Given the description of an element on the screen output the (x, y) to click on. 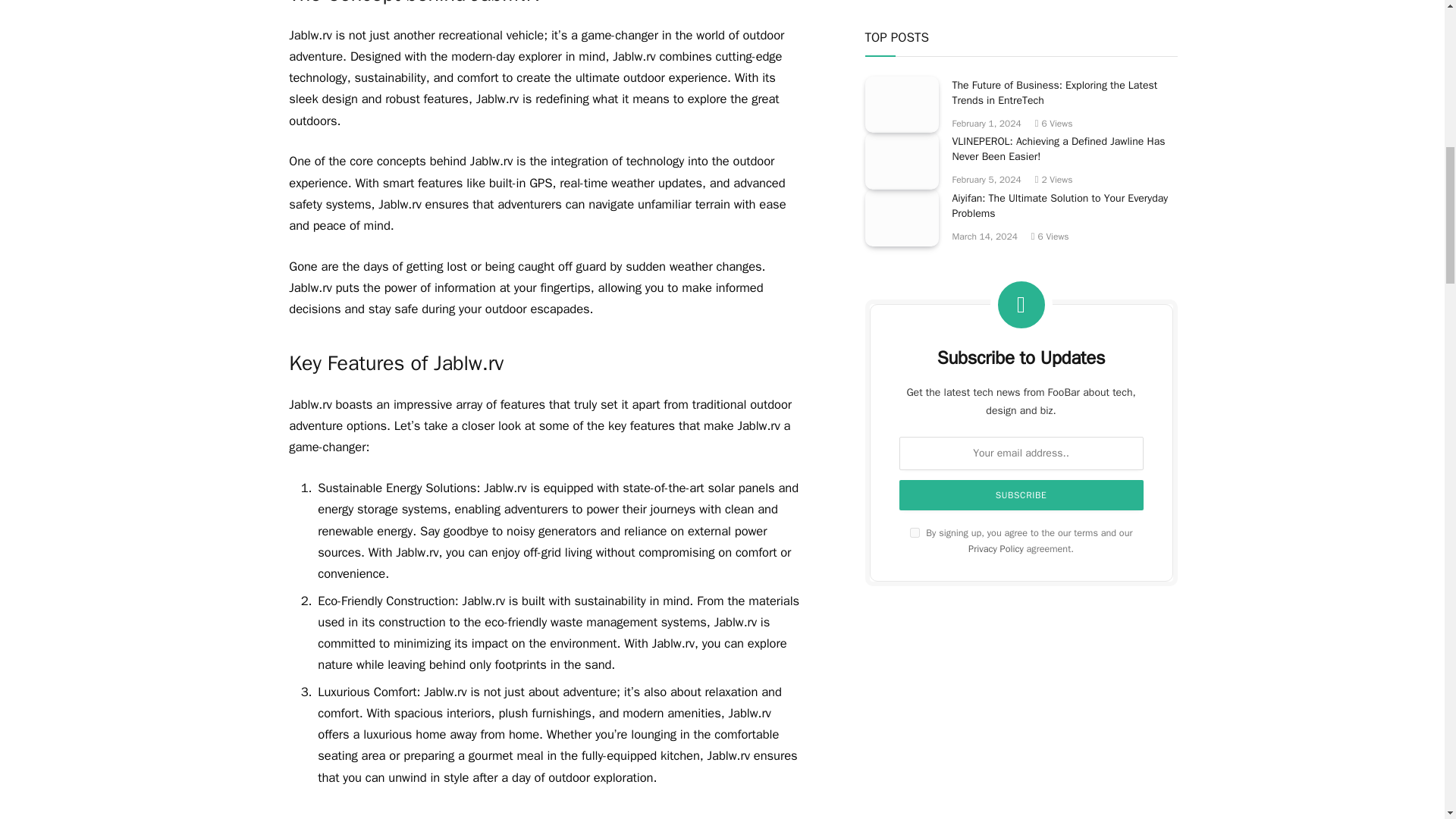
on (915, 3)
